Given the description of an element on the screen output the (x, y) to click on. 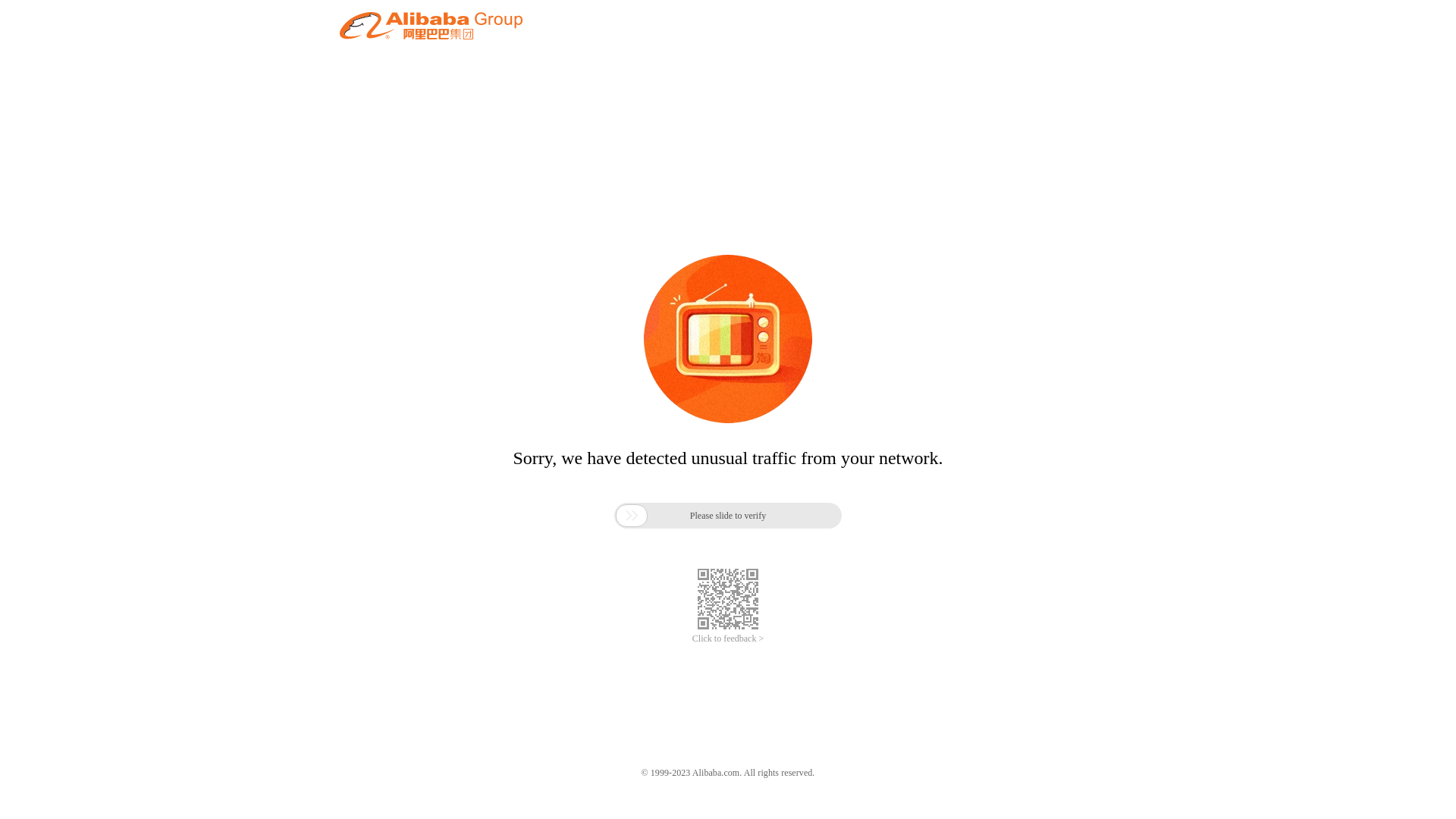
Click to feedback > Element type: text (727, 638)
